Given the description of an element on the screen output the (x, y) to click on. 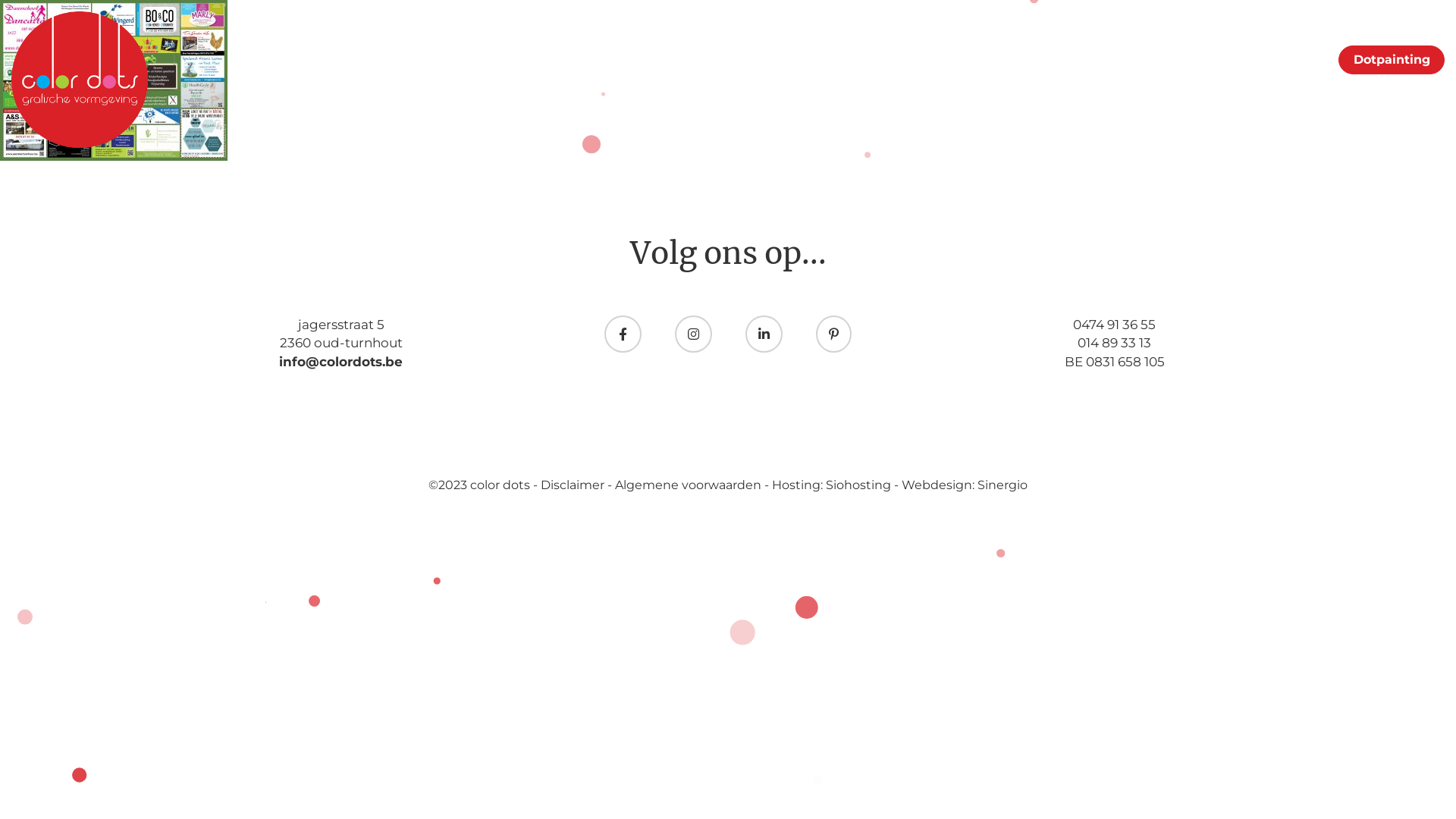
Contact Element type: text (1287, 59)
Disclaimer Element type: text (573, 484)
color dots Element type: text (501, 484)
info@colordots.be Element type: text (340, 361)
Portfolio Element type: text (1138, 59)
Hosting: Siohosting Element type: text (832, 484)
Webdesign: Sinergio Element type: text (964, 484)
Home Element type: text (1068, 59)
Klanten Element type: text (1213, 59)
Algemene voorwaarden Element type: text (689, 484)
Dotpainting Element type: text (1391, 59)
